Given the description of an element on the screen output the (x, y) to click on. 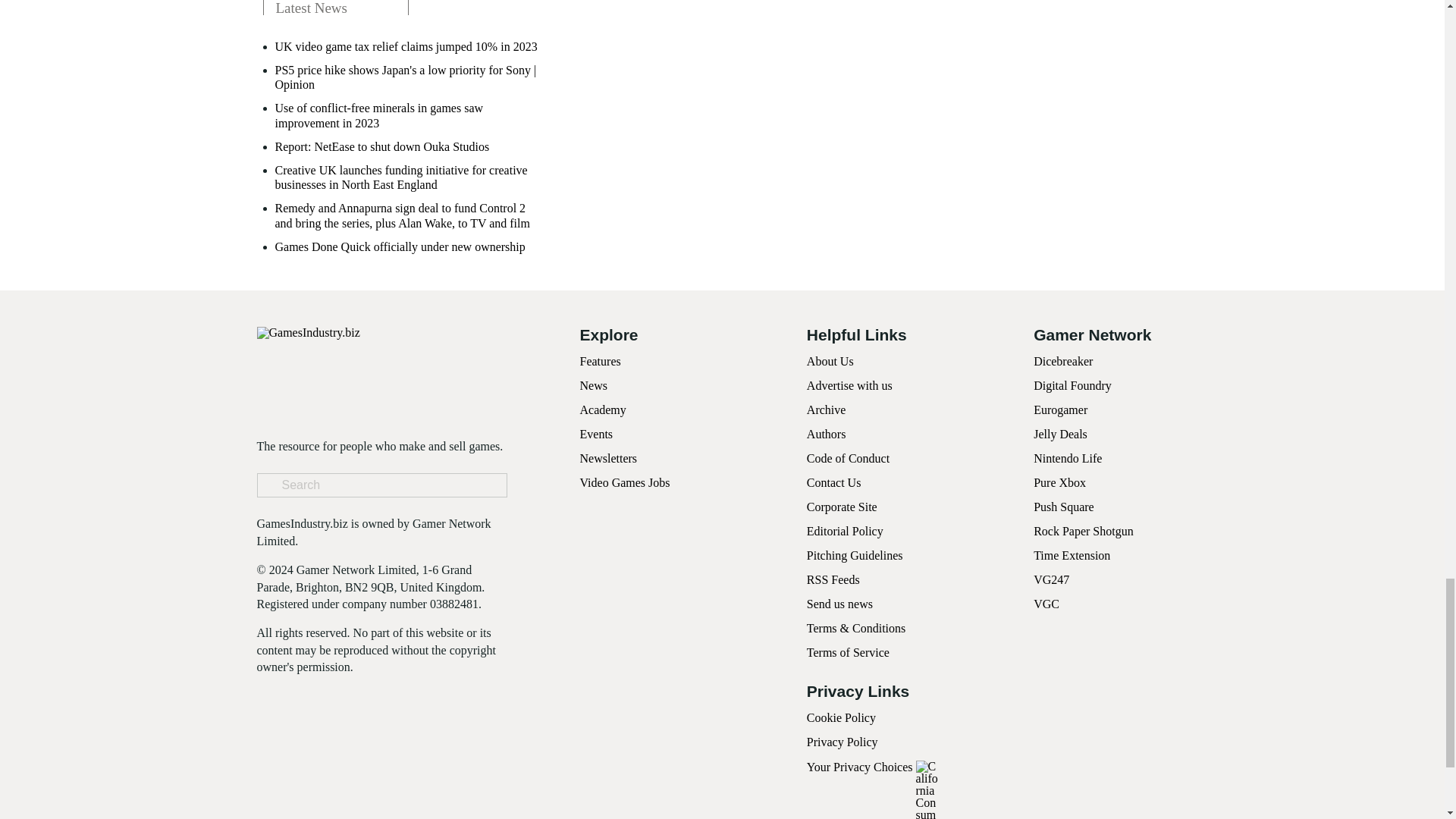
Academy (602, 409)
About Us (829, 360)
News (593, 385)
Video Games Jobs (624, 481)
Report: NetEase to shut down Ouka Studios (382, 146)
Newsletters (608, 458)
Events (595, 433)
Features (599, 360)
